Given the description of an element on the screen output the (x, y) to click on. 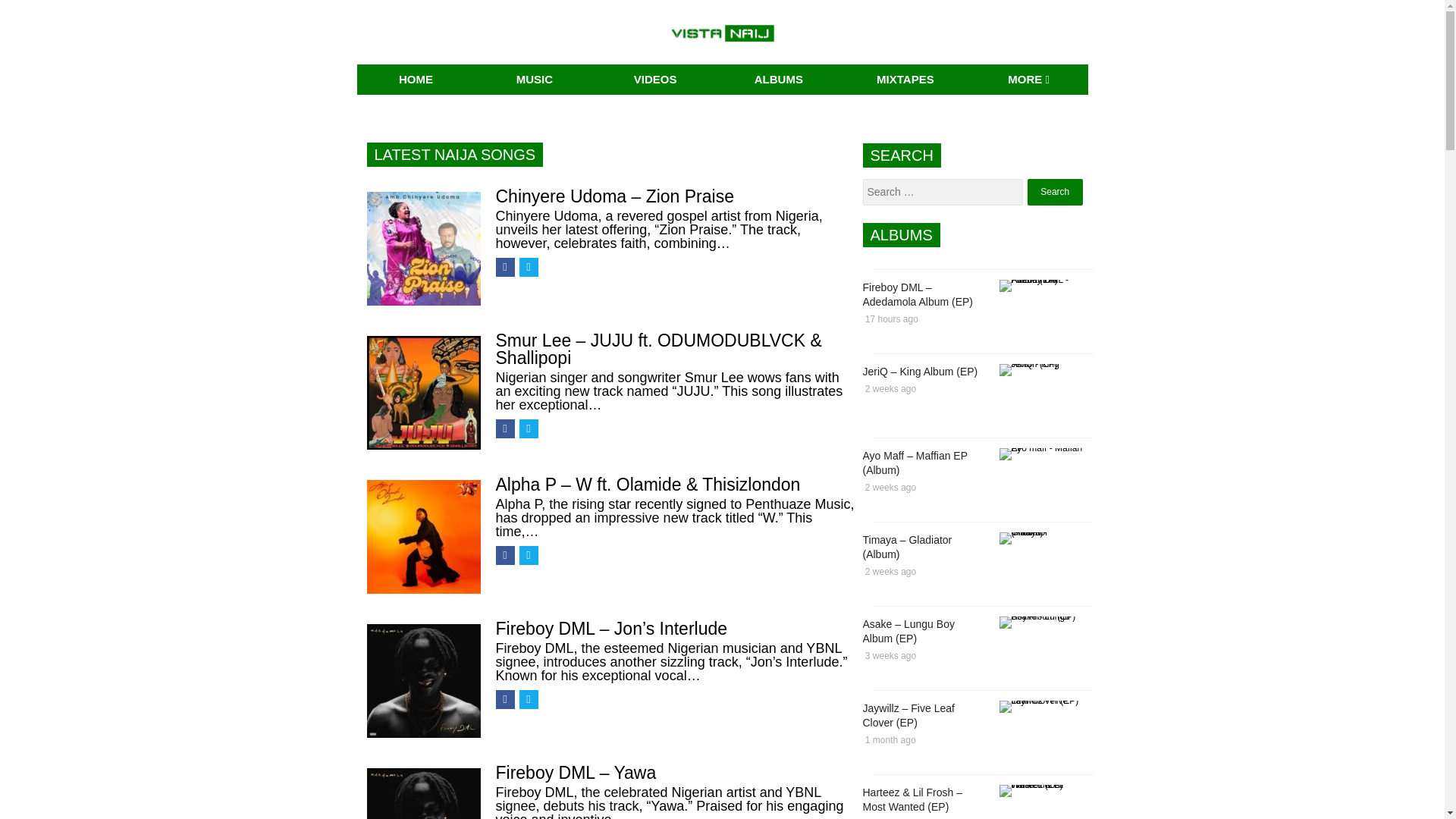
Search (1055, 192)
Search (1055, 192)
MORE (1028, 79)
Home (415, 79)
Music (534, 79)
Mixtapes (905, 79)
Videos (655, 79)
ALBUMS (778, 79)
More (1028, 79)
VIDEOS (655, 79)
